Given the description of an element on the screen output the (x, y) to click on. 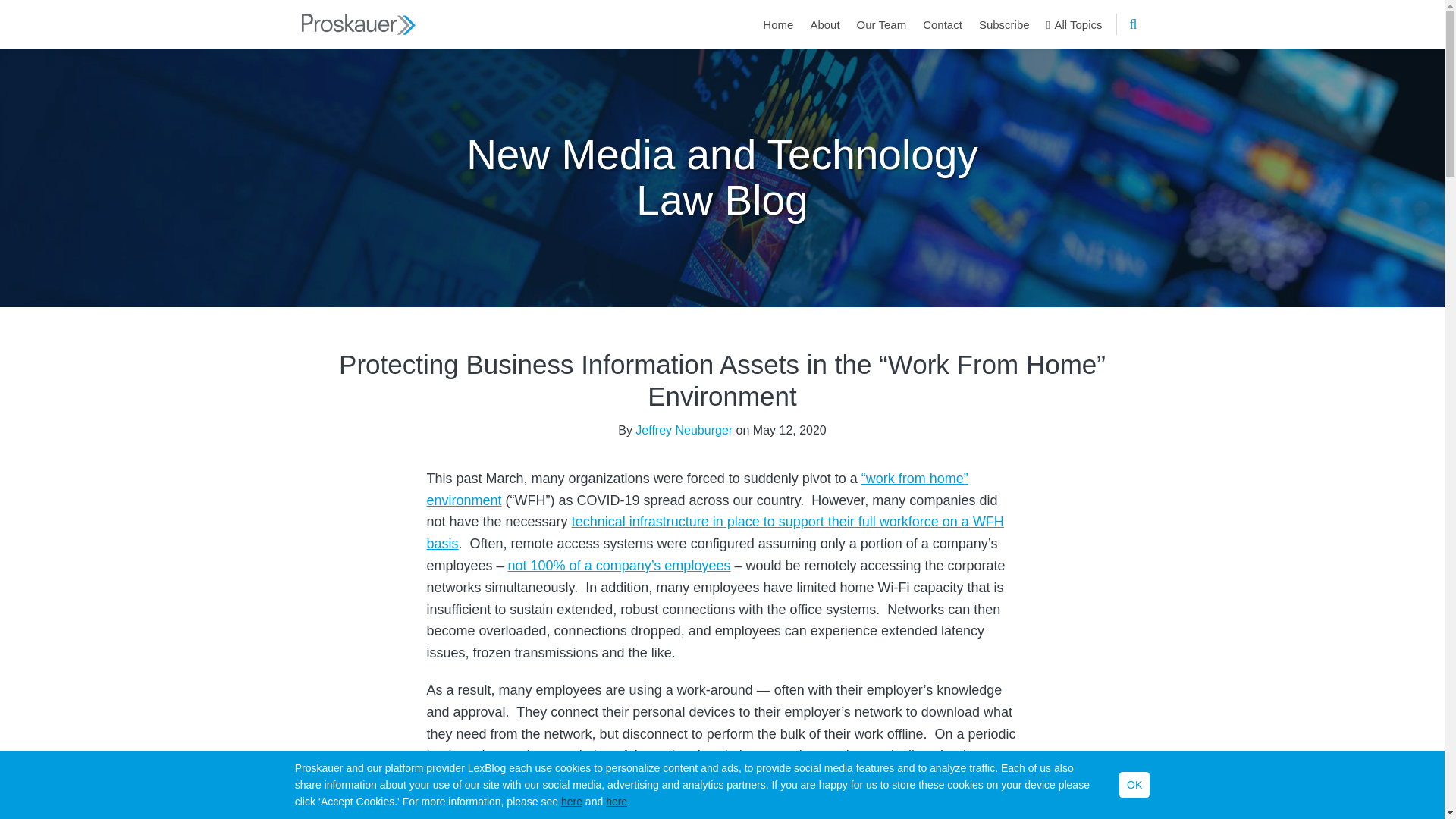
Contact (942, 24)
OK (1134, 784)
Subscribe (1003, 24)
All Topics (1074, 24)
Jeffrey Neuburger (683, 429)
here (571, 801)
Our Team (882, 24)
Home (777, 24)
here (616, 801)
New Media and Technology Law Blog (721, 176)
About (824, 24)
